Given the description of an element on the screen output the (x, y) to click on. 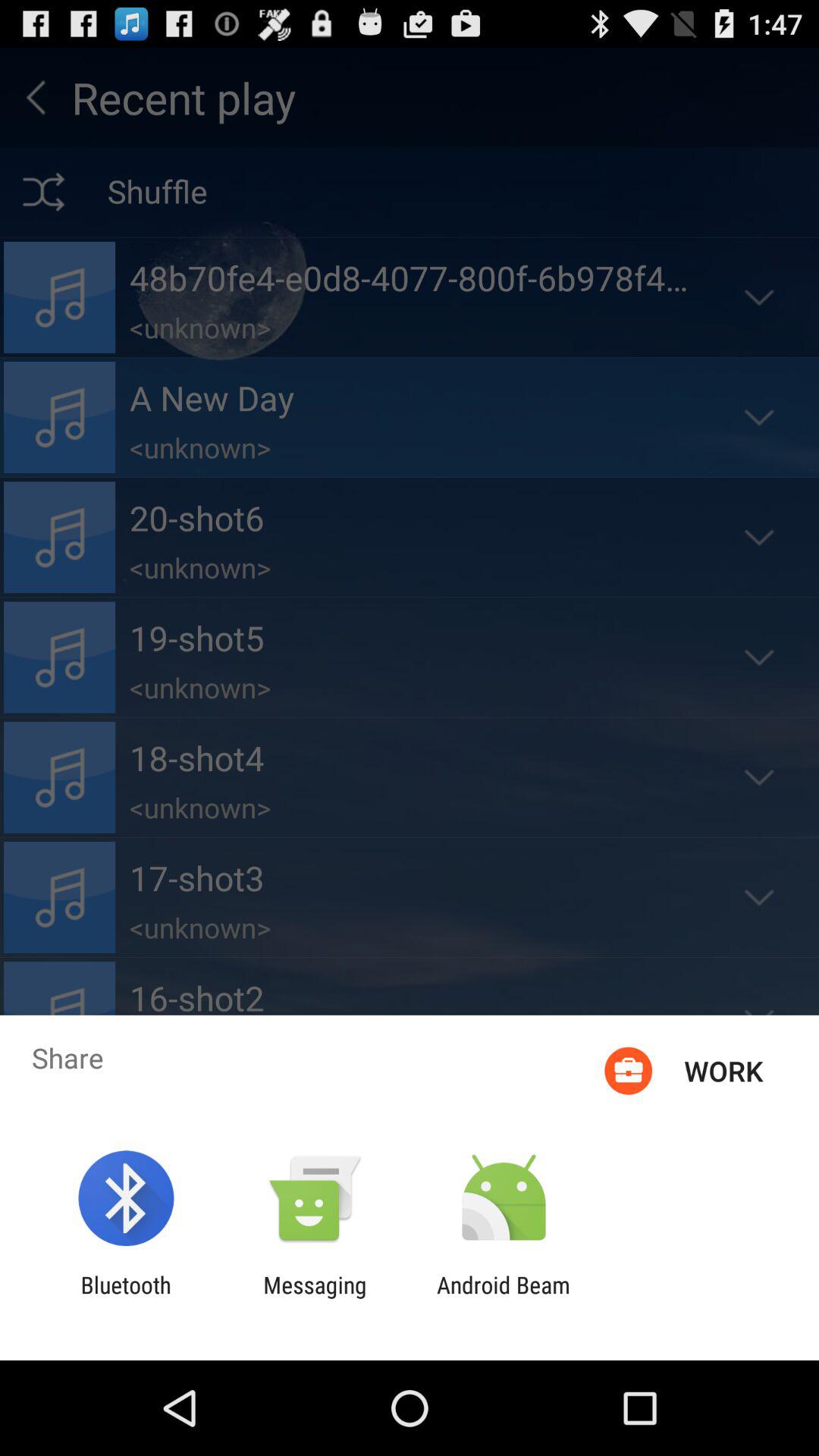
turn off the bluetooth app (125, 1298)
